Given the description of an element on the screen output the (x, y) to click on. 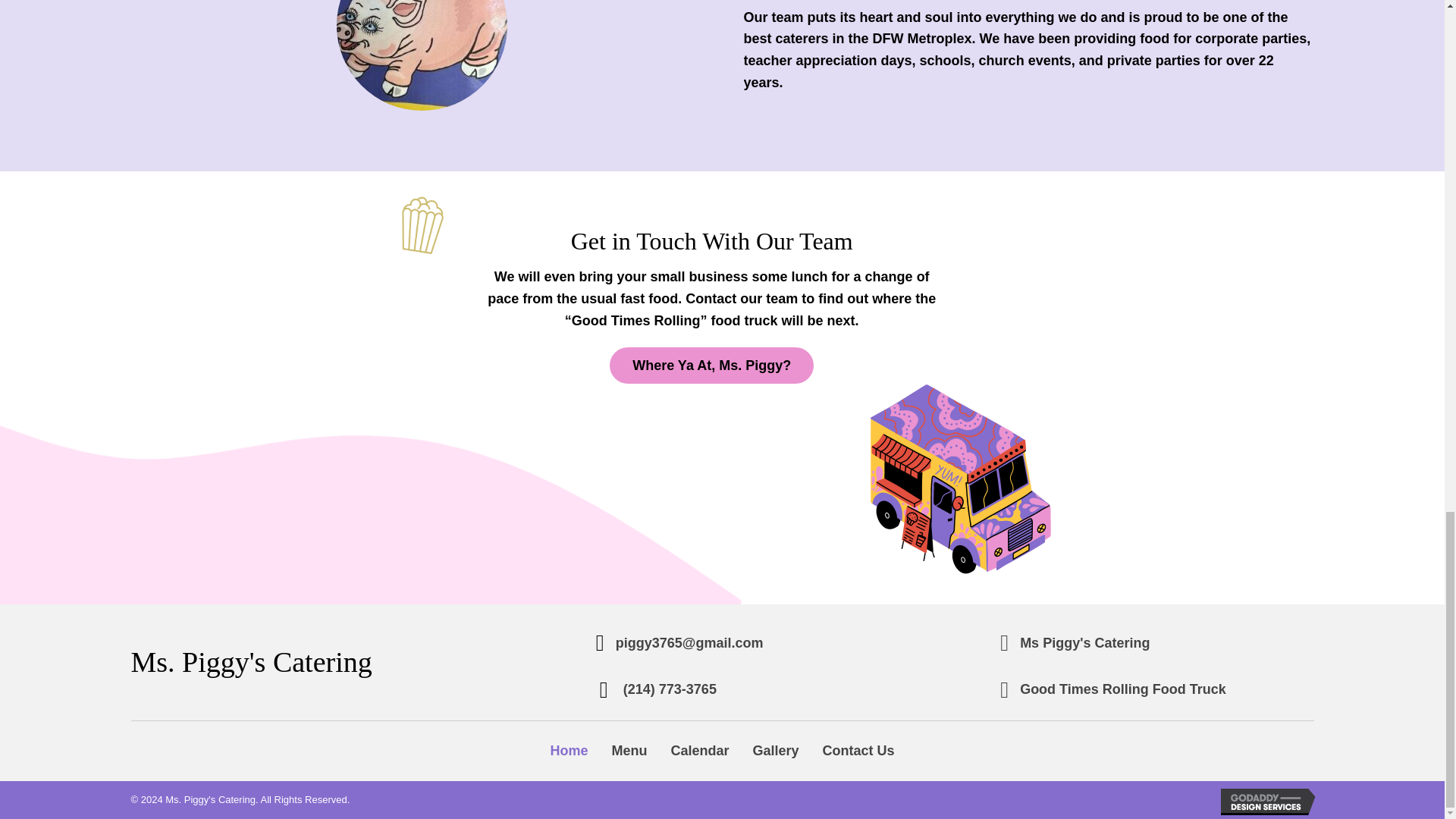
5BC9CBCA-31E9-43DD-AA60-64C2FA901AAD (421, 55)
Untitled design - 2023-02-08T121504.551 (960, 479)
Untitled design - 2023-02-08T115822.900 (423, 227)
Ms. Piggy's Catering (251, 662)
